Given the description of an element on the screen output the (x, y) to click on. 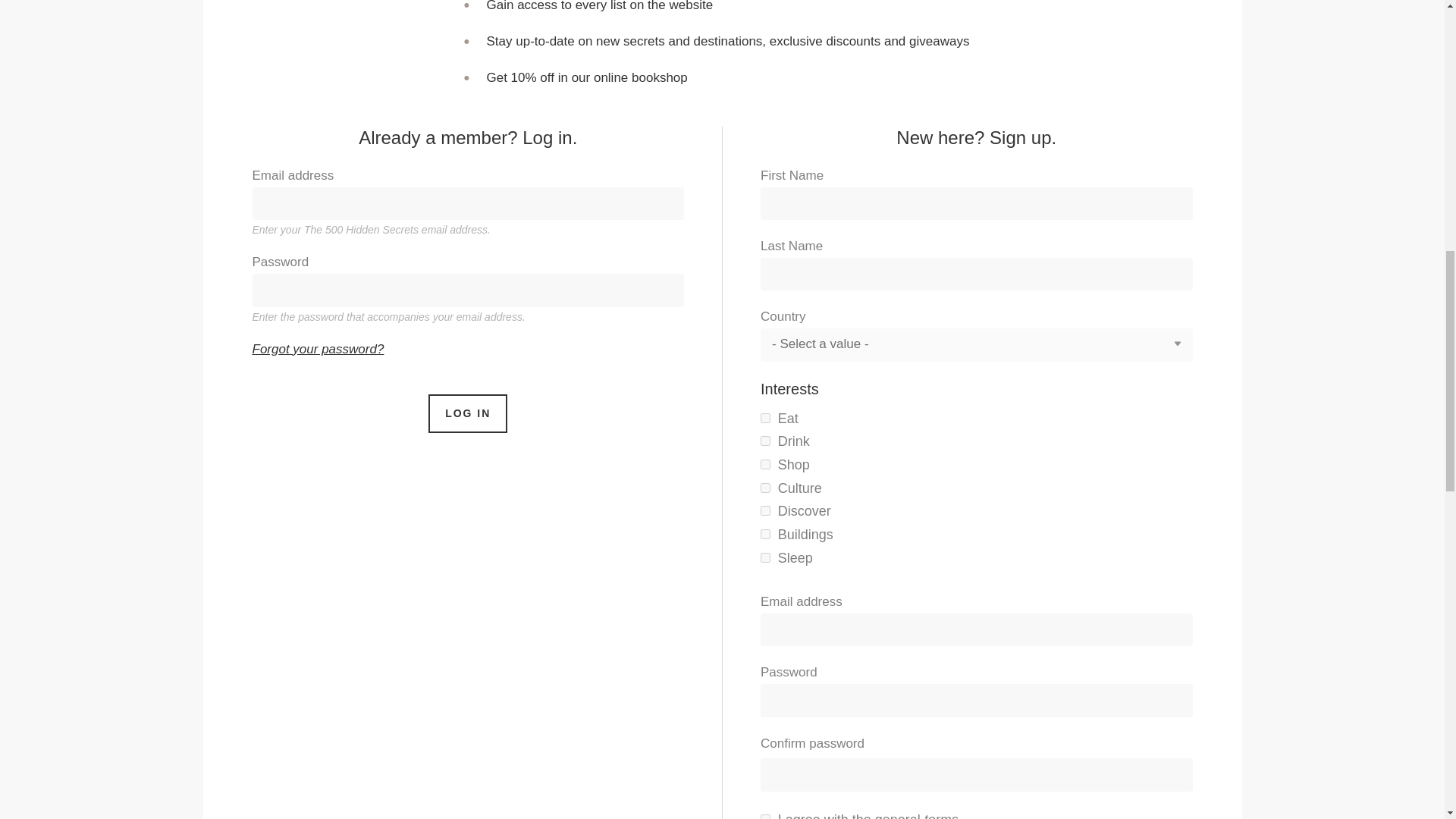
6 (765, 510)
8 (765, 464)
Log in (467, 413)
1 (765, 816)
SLEEP (243, 4)
11 (765, 557)
7 (765, 440)
5 (765, 418)
terms (941, 815)
Forgot your password? (317, 349)
Log in (467, 413)
10 (765, 488)
9 (765, 533)
